Given the description of an element on the screen output the (x, y) to click on. 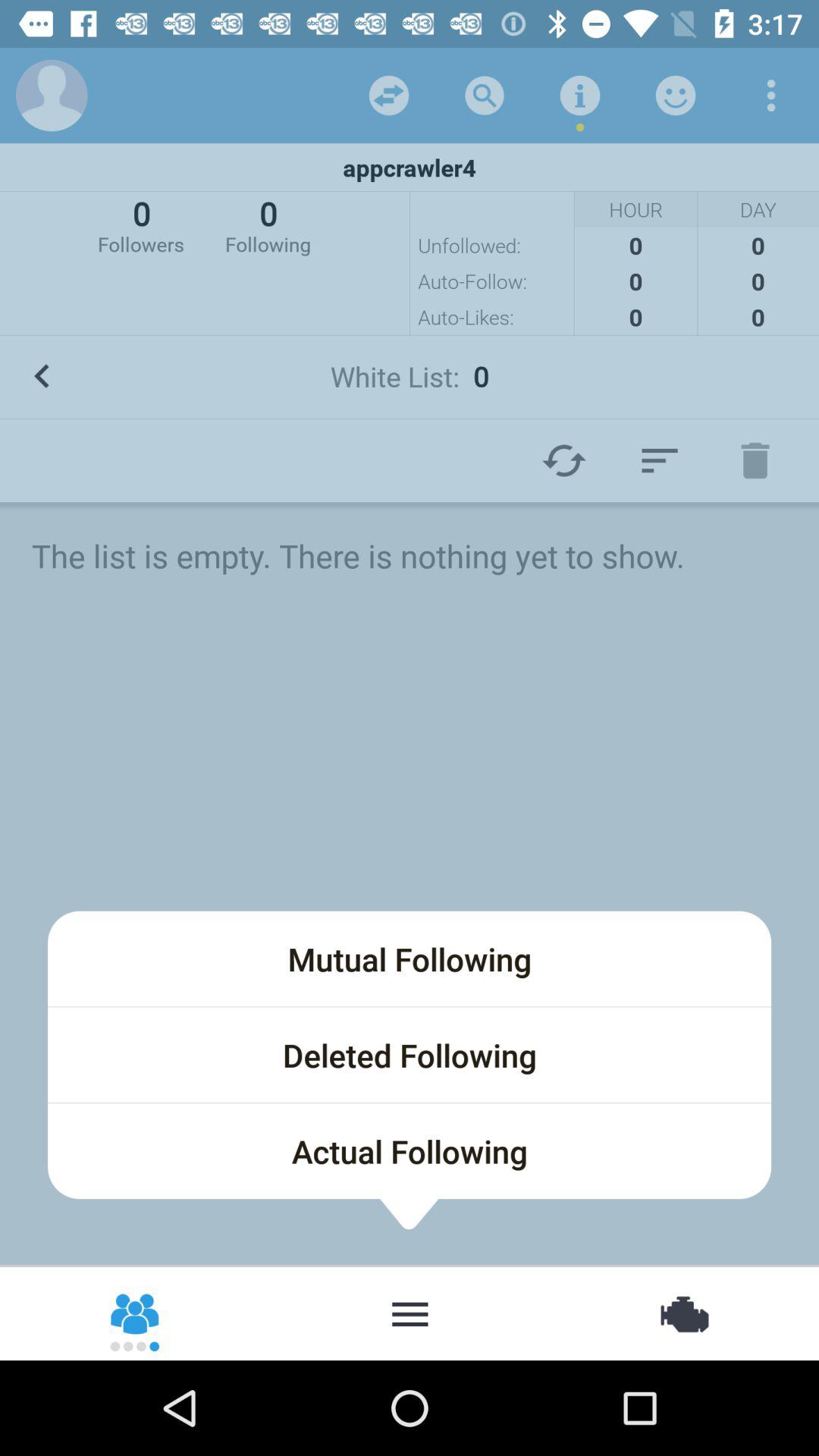
choose icon to the left of white list:  0 icon (41, 376)
